Given the description of an element on the screen output the (x, y) to click on. 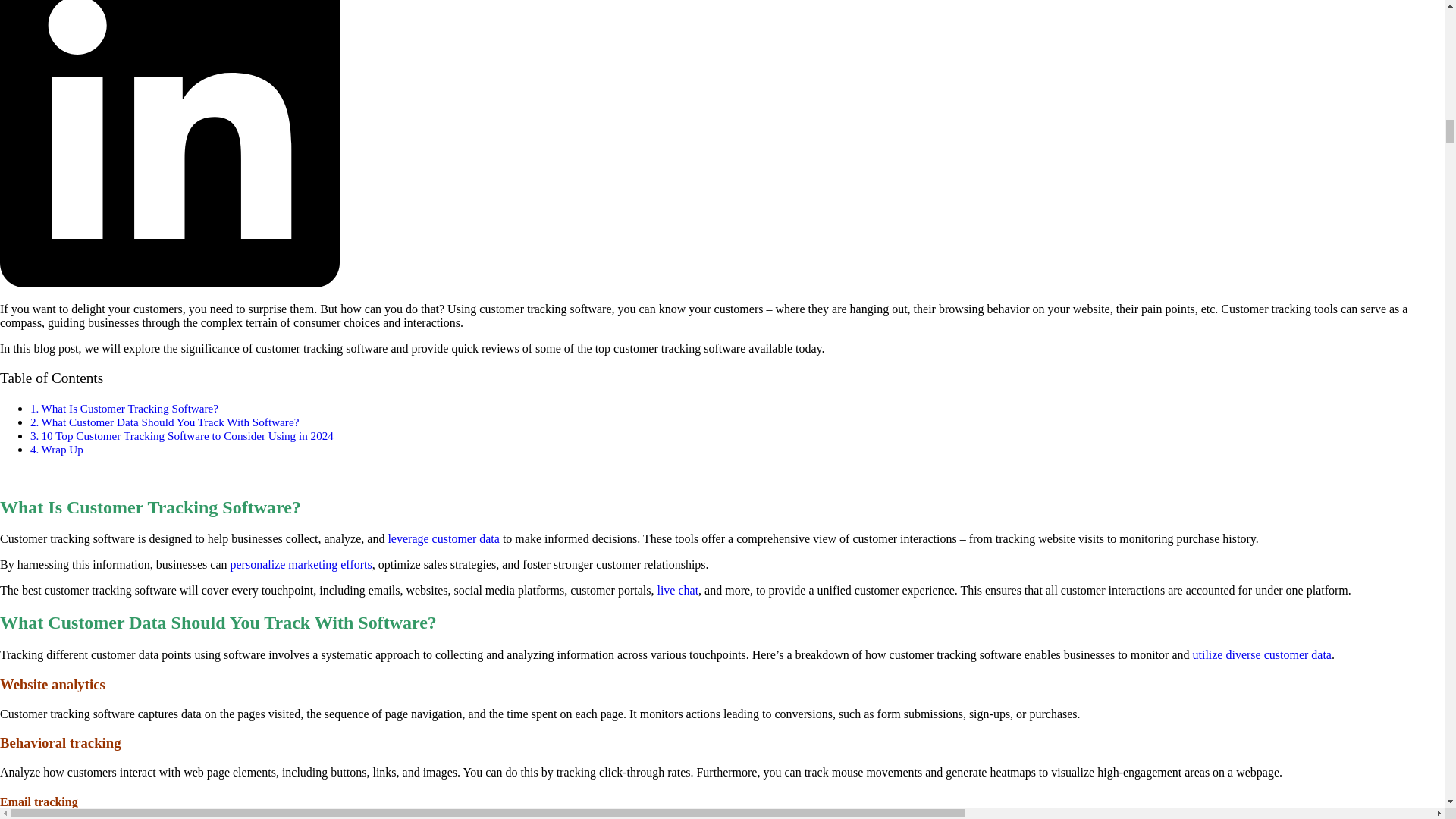
What Customer Data Should You Track With Software? (169, 421)
10 Top Customer Tracking Software to Consider Using in 2024 (186, 435)
